Given the description of an element on the screen output the (x, y) to click on. 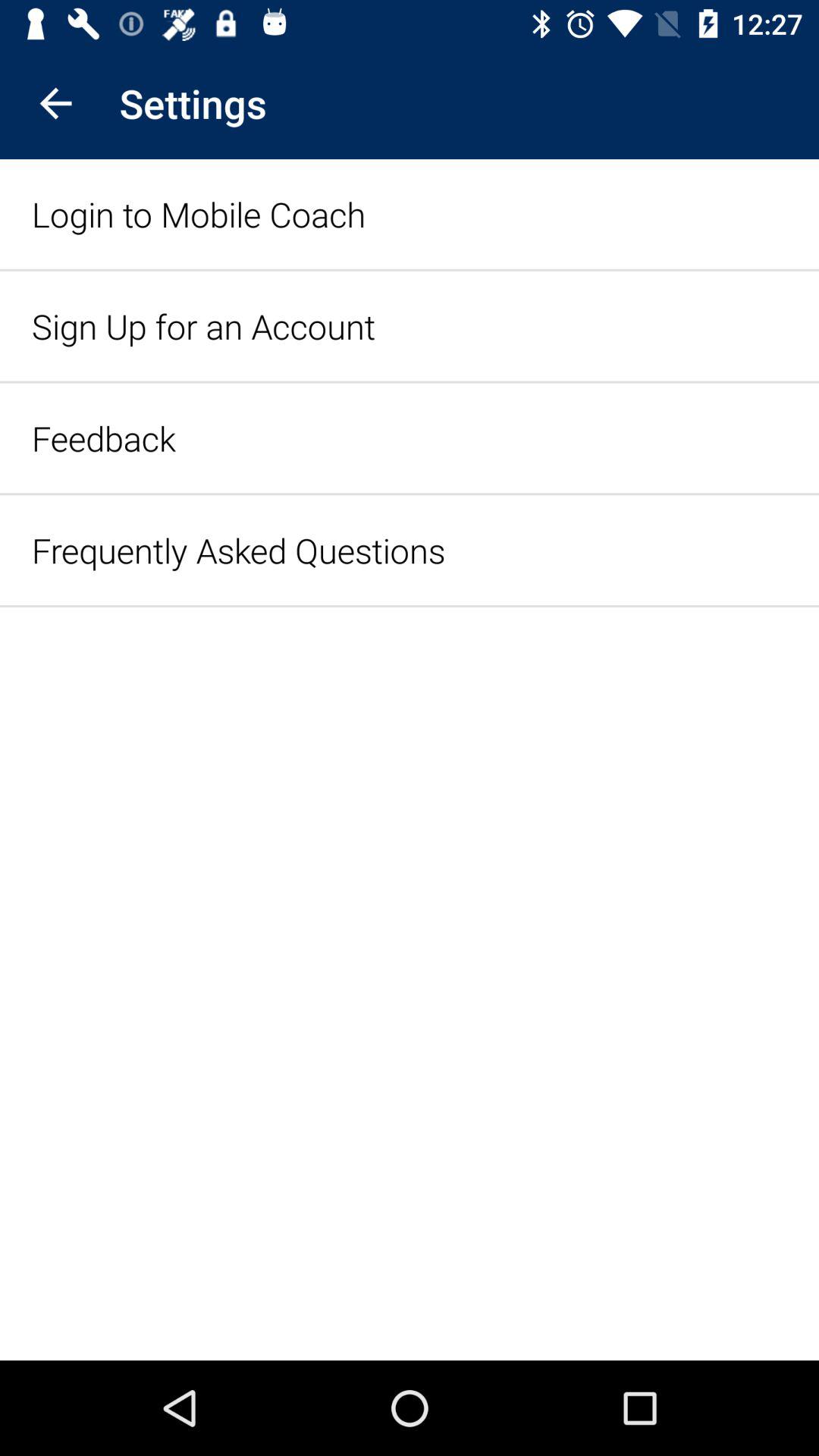
turn off the item above the frequently asked questions (103, 438)
